Given the description of an element on the screen output the (x, y) to click on. 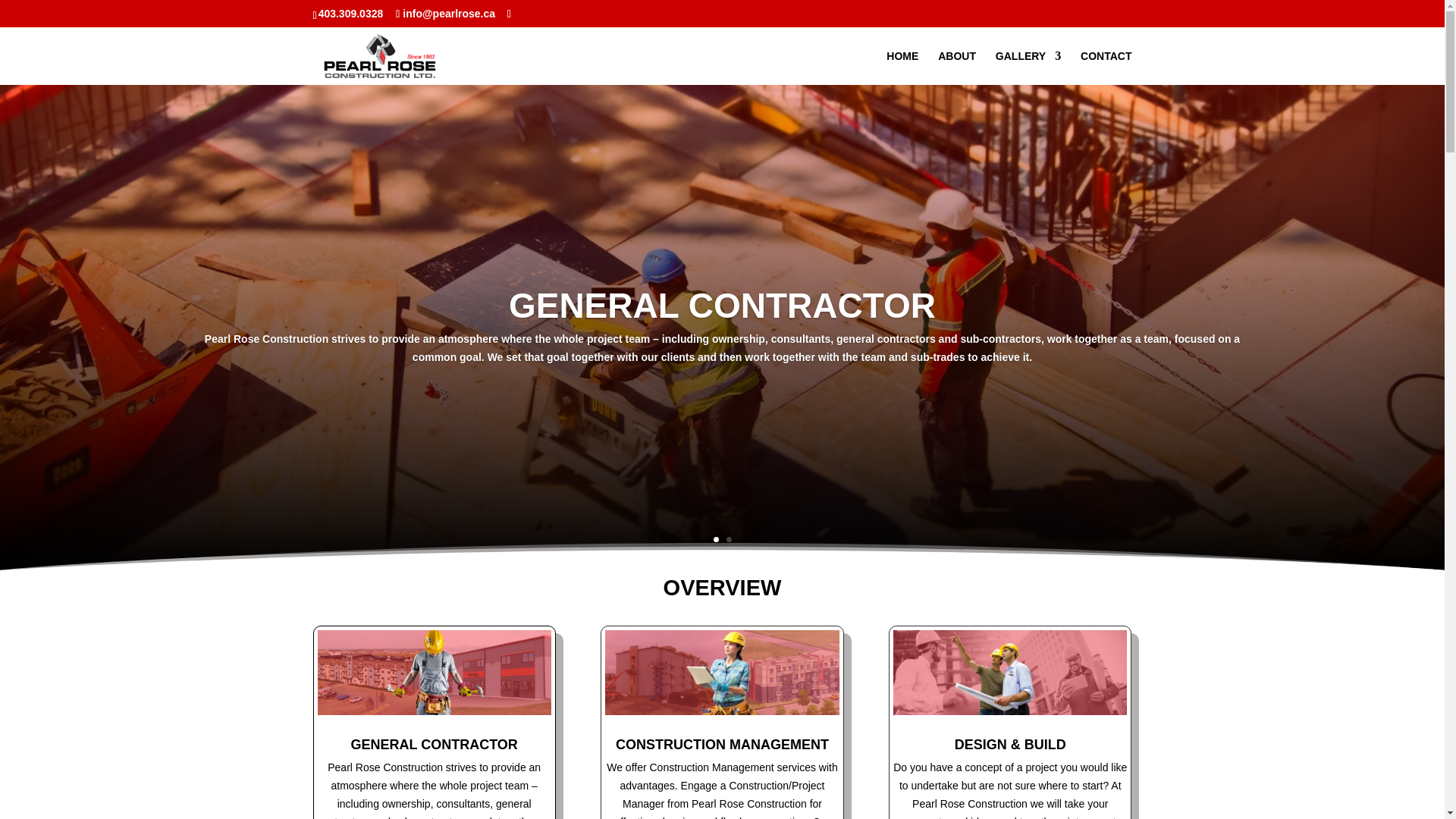
HOME (902, 67)
CONTACT (1105, 67)
ABOUT (956, 67)
GALLERY (1028, 67)
